Given the description of an element on the screen output the (x, y) to click on. 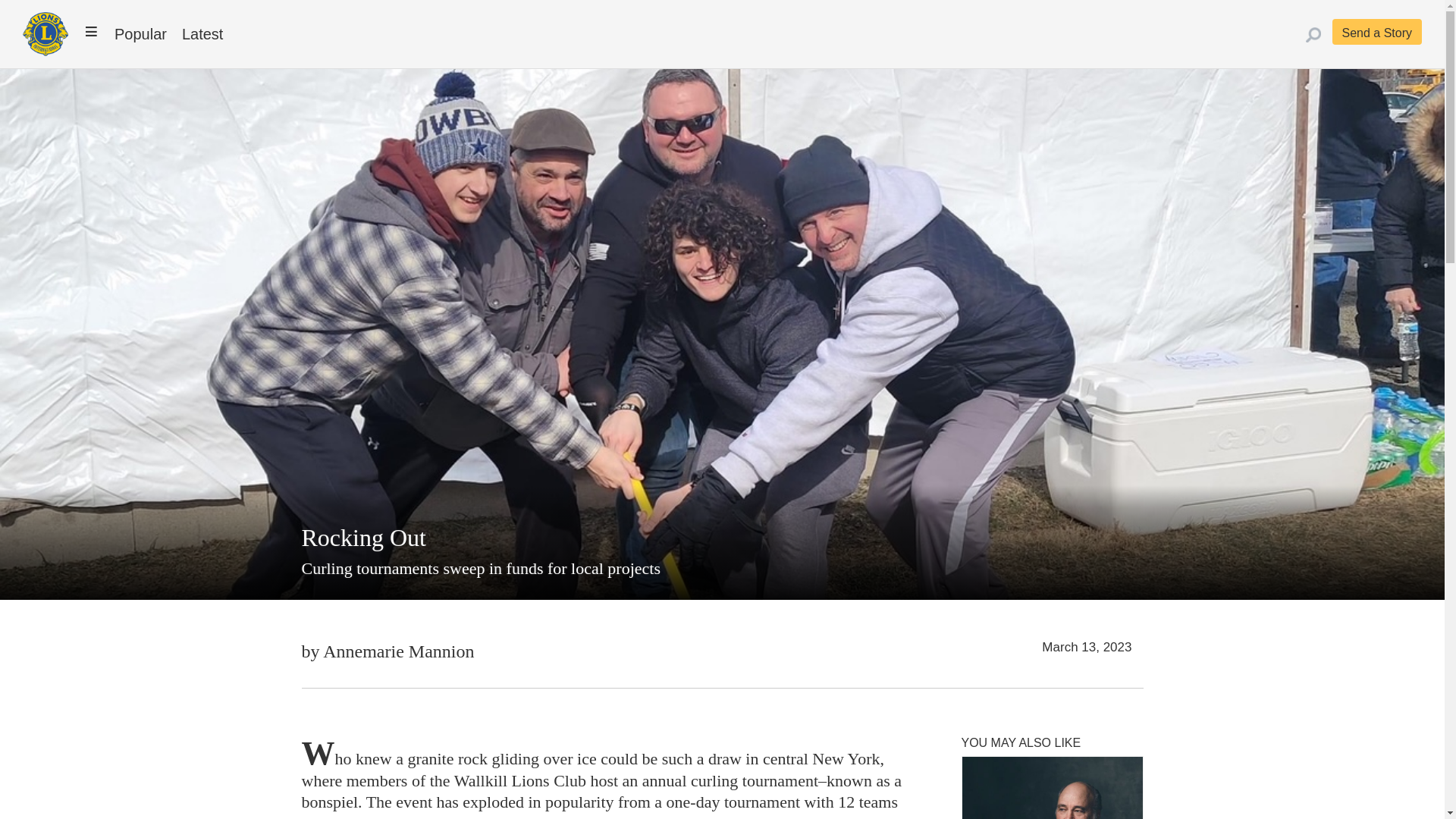
Search (16, 14)
Send a Story (1377, 31)
Popular (140, 33)
